Given the description of an element on the screen output the (x, y) to click on. 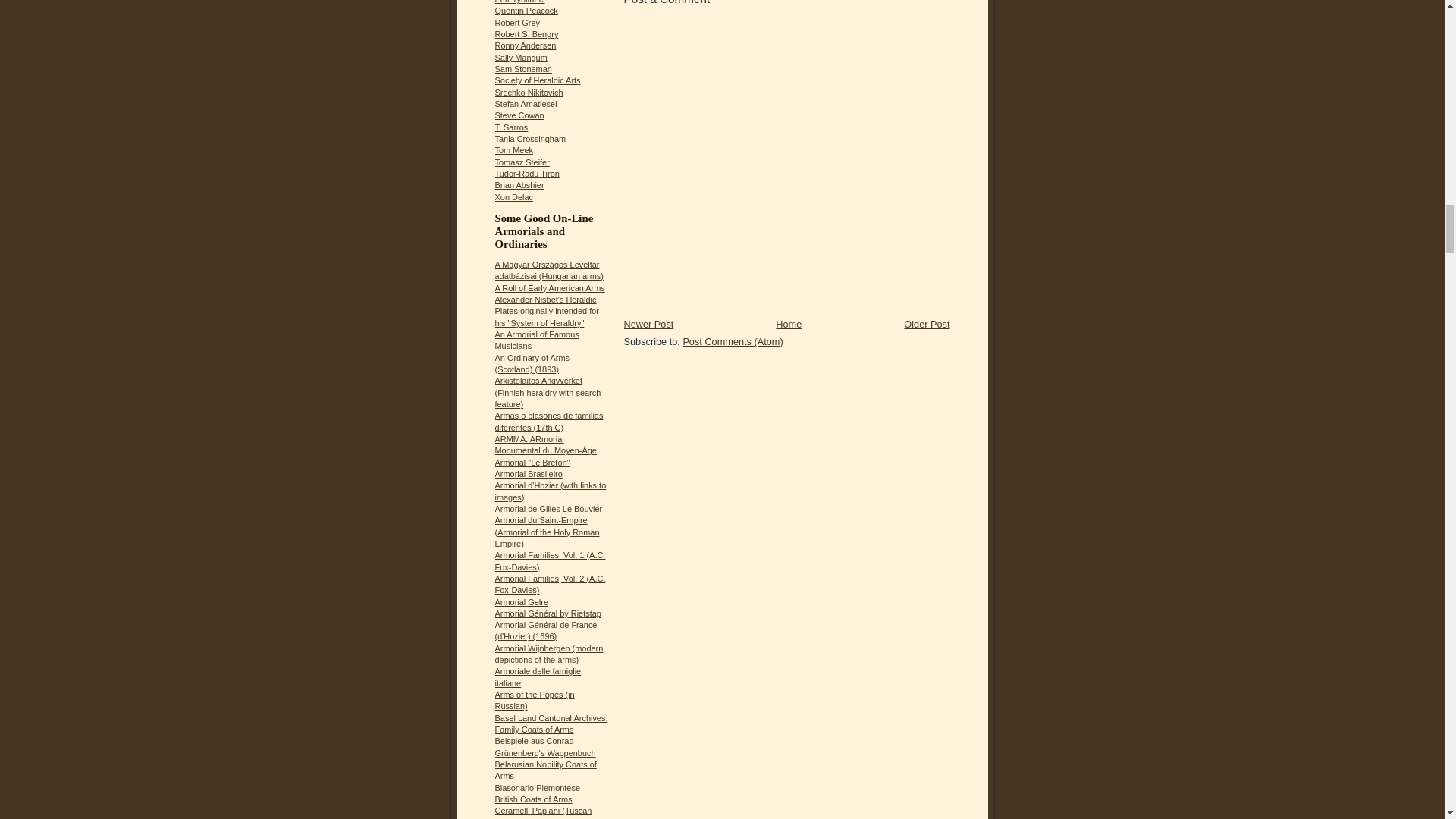
Older Post (926, 324)
Newer Post (647, 324)
